Given the description of an element on the screen output the (x, y) to click on. 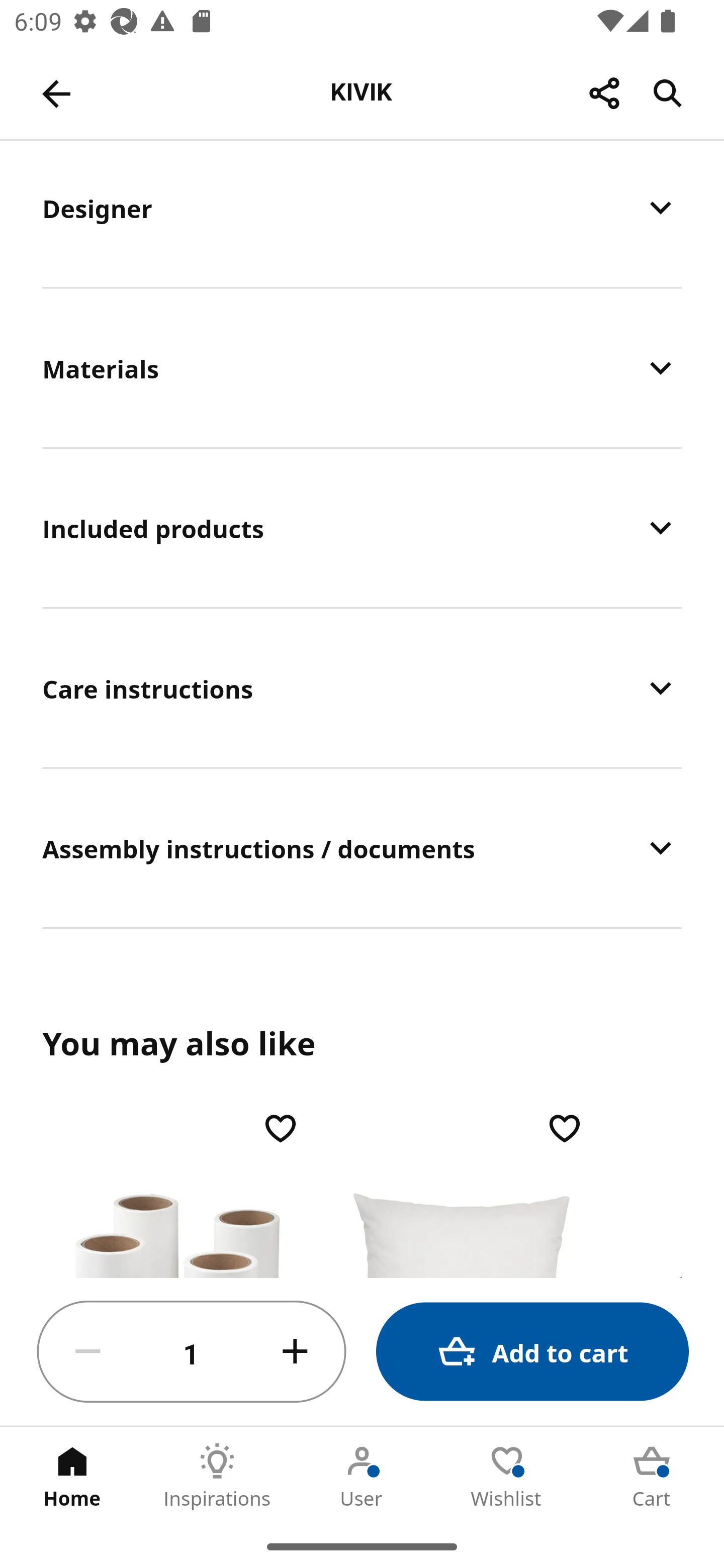
Designer (361, 213)
Materials (361, 367)
Included products (361, 527)
Care instructions (361, 687)
Assembly instructions / documents (361, 847)
Add to cart (531, 1352)
1 (191, 1352)
Home
Tab 1 of 5 (72, 1476)
Inspirations
Tab 2 of 5 (216, 1476)
User
Tab 3 of 5 (361, 1476)
Wishlist
Tab 4 of 5 (506, 1476)
Cart
Tab 5 of 5 (651, 1476)
